Given the description of an element on the screen output the (x, y) to click on. 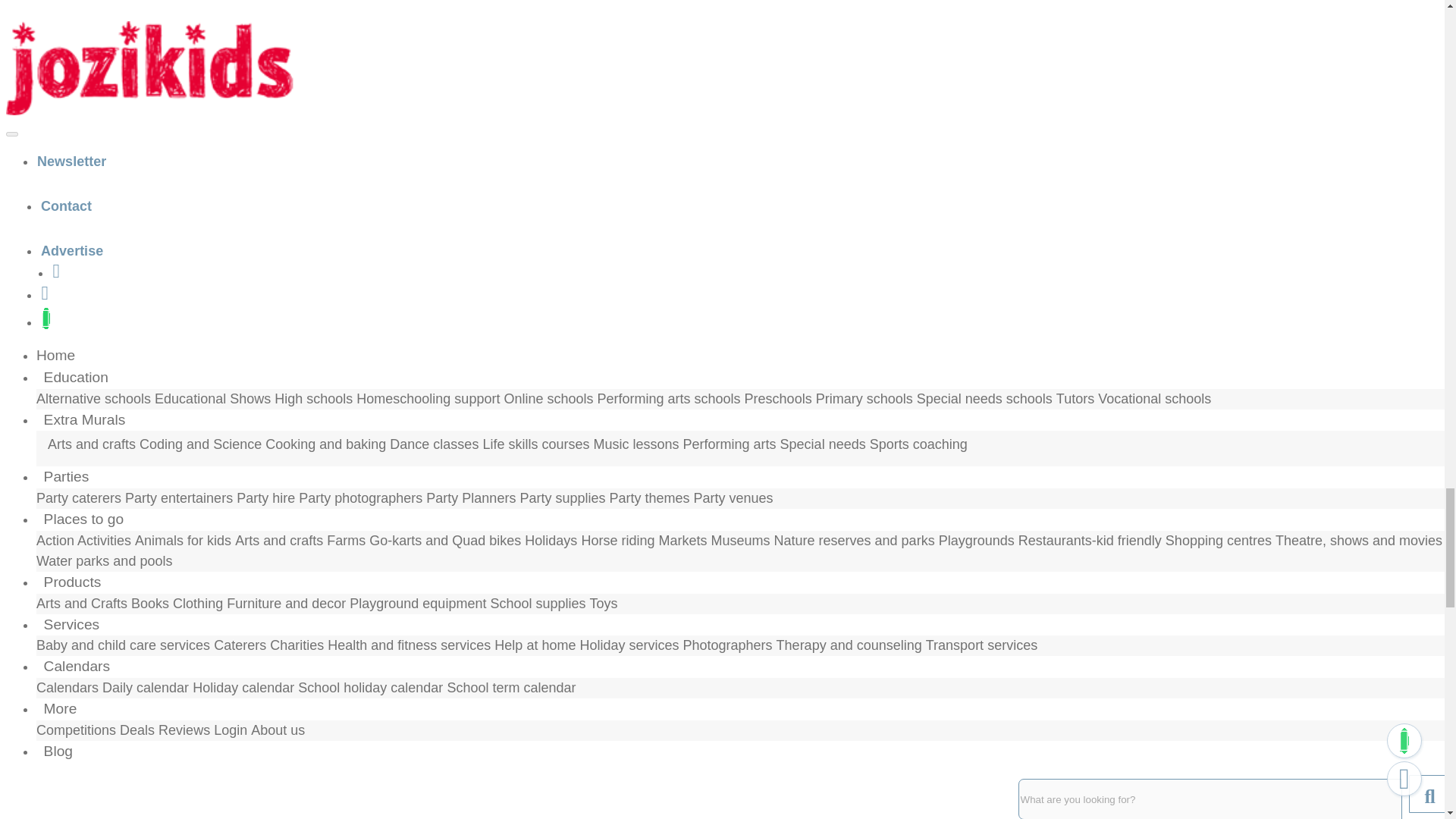
3rd party ad content (118, 33)
3rd party ad content (118, 189)
3rd party ad content (118, 405)
3rd party ad content (118, 621)
